Given the description of an element on the screen output the (x, y) to click on. 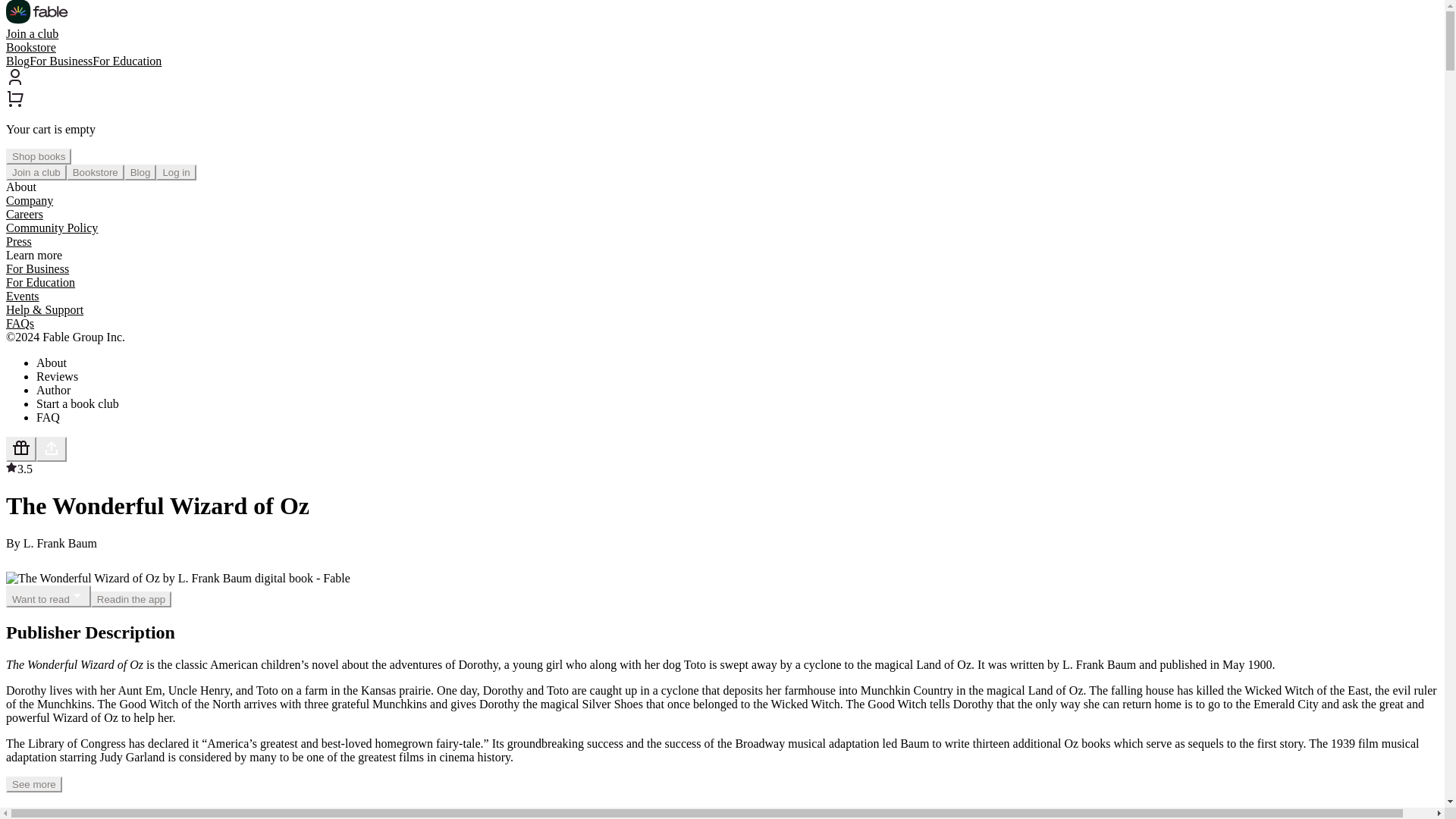
Join a club (31, 33)
For Business (36, 268)
Community Policy (51, 227)
Bookstore (94, 172)
Bookstore (30, 47)
Want to read (47, 596)
Reviews (57, 376)
See more (33, 784)
Careers (24, 214)
Readin the app (130, 599)
